Given the description of an element on the screen output the (x, y) to click on. 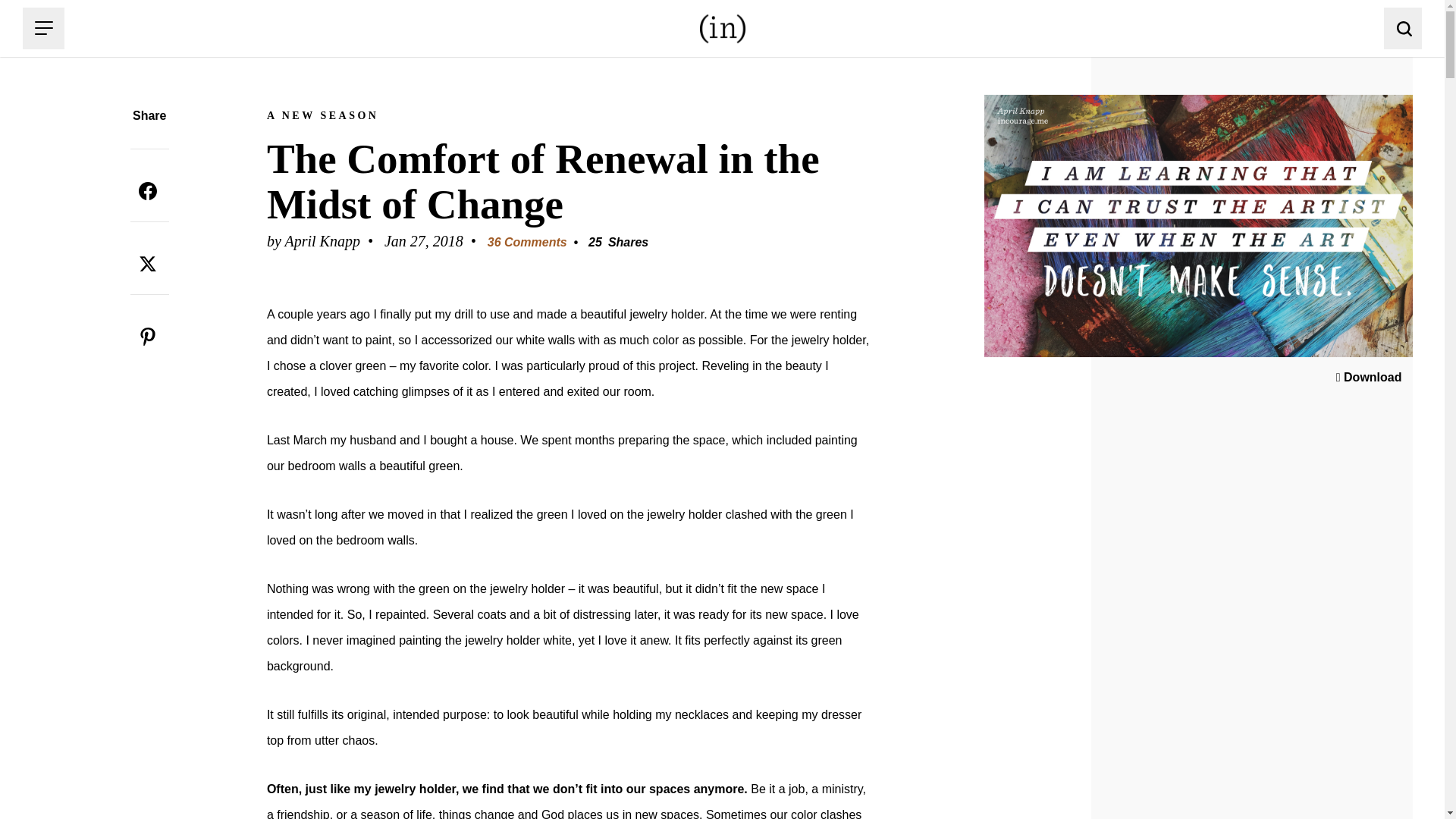
Share on Pinterest (148, 336)
Share on Facebook (148, 190)
Share on Twitter (148, 263)
